Given the description of an element on the screen output the (x, y) to click on. 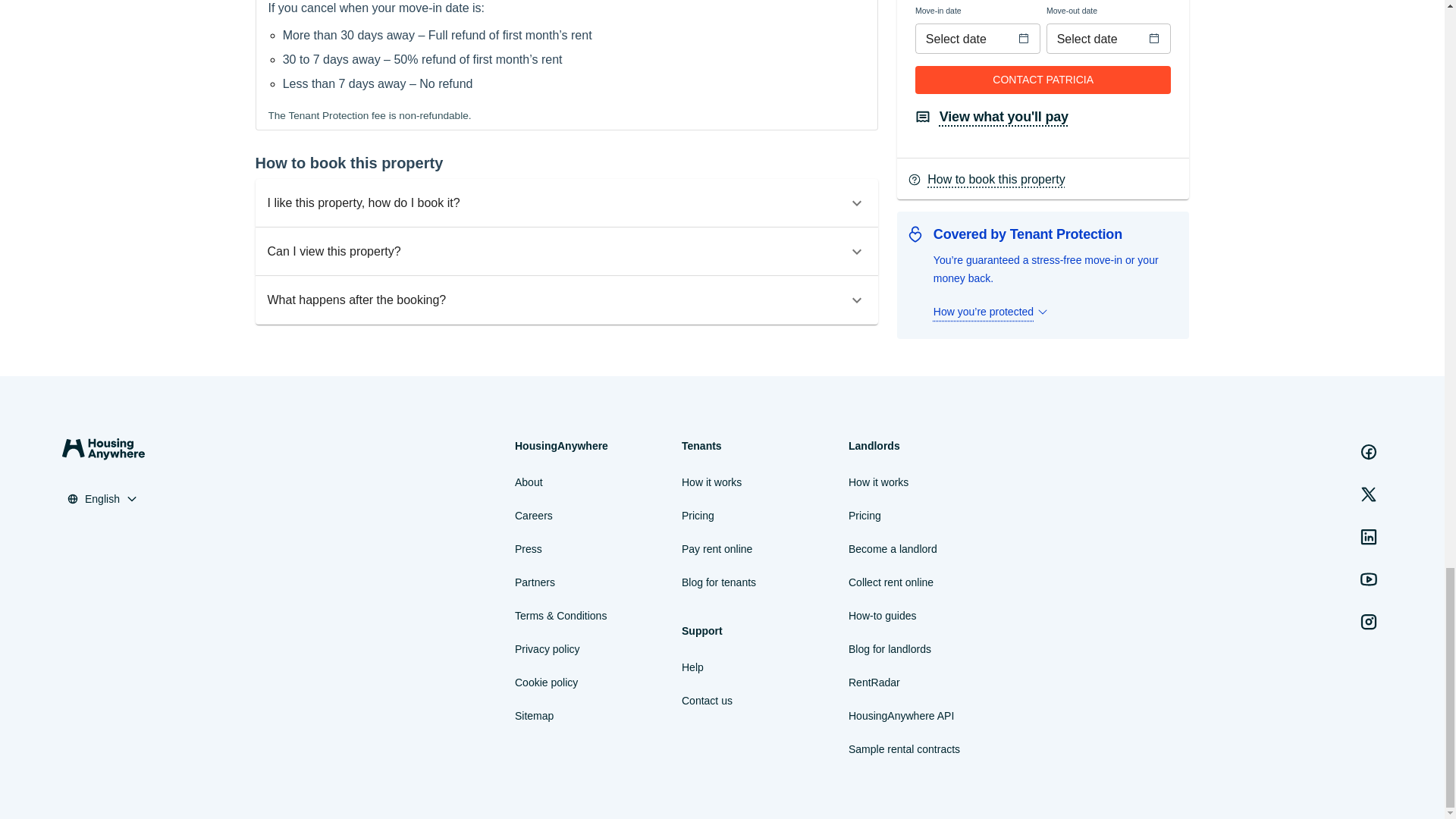
twitter (1369, 494)
About (529, 482)
facebook (1369, 451)
linkedin (1369, 536)
instagram (1369, 621)
youtube (1369, 579)
Press (528, 548)
Partners (534, 582)
Careers (534, 515)
Sitemap (534, 715)
